Given the description of an element on the screen output the (x, y) to click on. 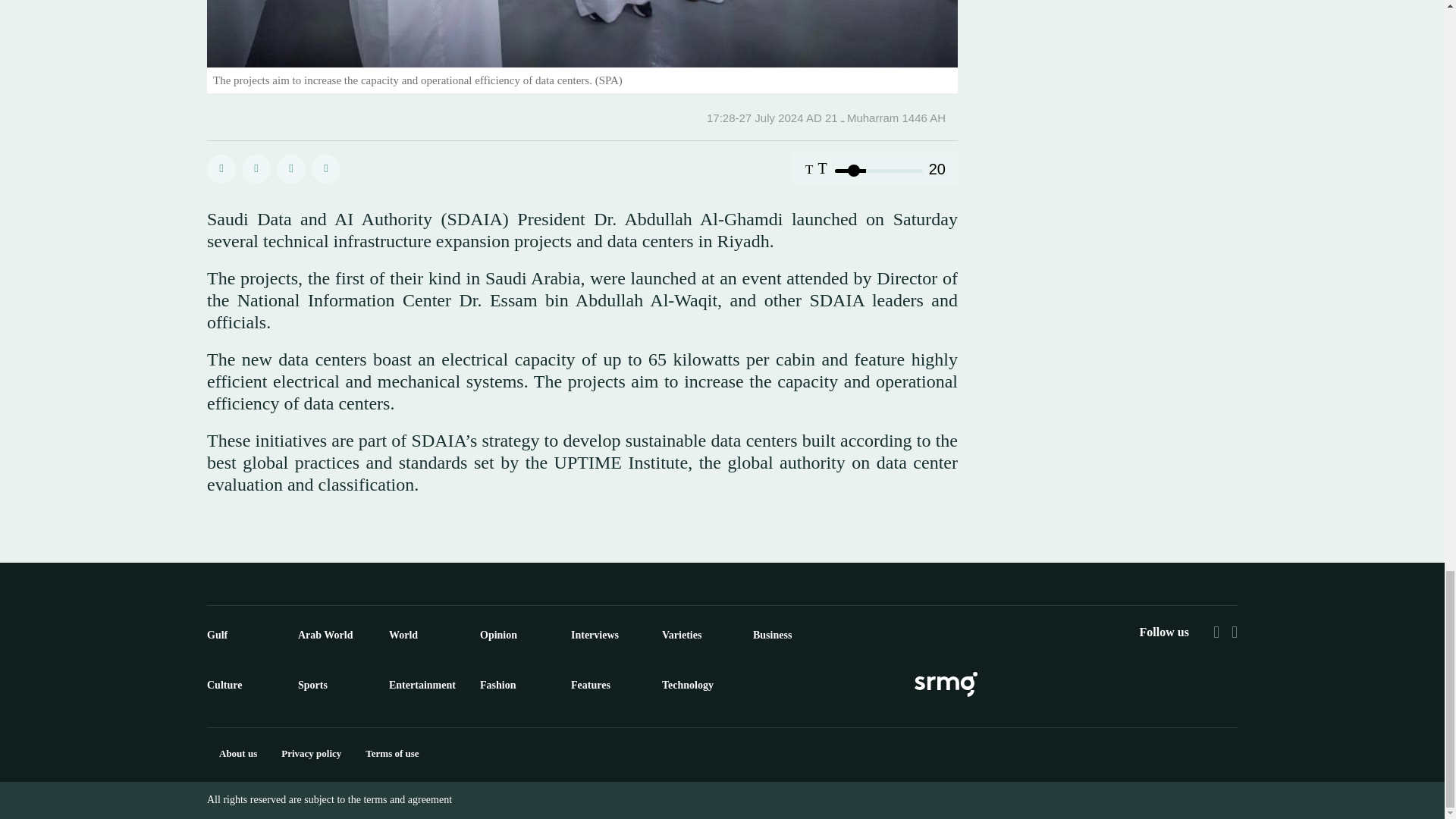
20 (878, 170)
